Given the description of an element on the screen output the (x, y) to click on. 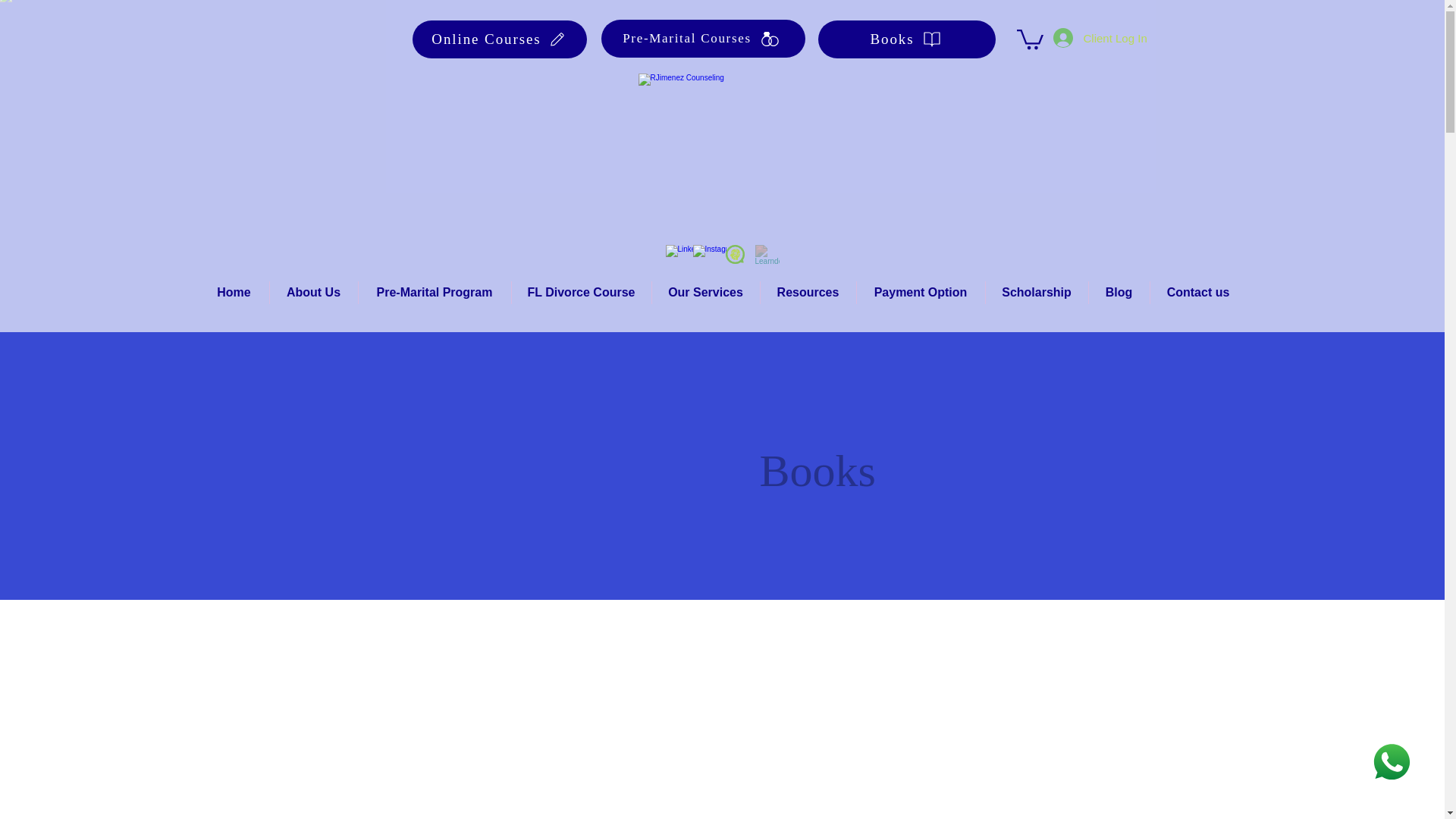
Scholarship (1036, 292)
Payment Option (921, 292)
About Us (313, 292)
Blog (1119, 292)
Books (905, 39)
FL Divorce Course (580, 292)
Home (232, 292)
Resources (808, 292)
Pre-Marital Courses (702, 38)
Client Log In (1087, 37)
